Given the description of an element on the screen output the (x, y) to click on. 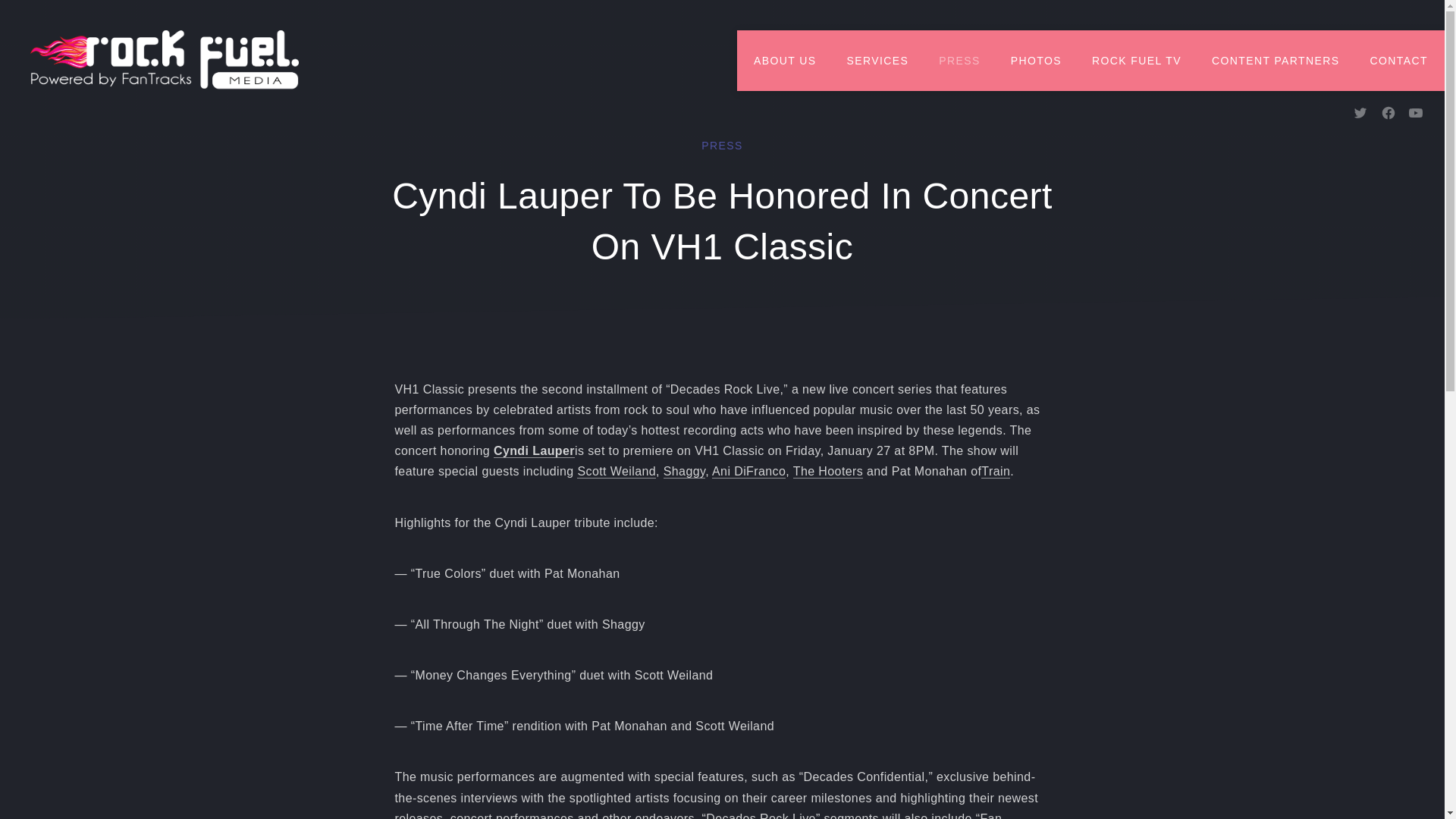
ROCK FUEL TV (1136, 60)
View all posts in Press (721, 145)
ABOUT US (784, 60)
PRESS (958, 60)
Cyndi Lauper (534, 450)
PRESS (721, 145)
SERVICES (877, 60)
Shaggy (683, 471)
Train (995, 471)
The Hooters (828, 471)
